Given the description of an element on the screen output the (x, y) to click on. 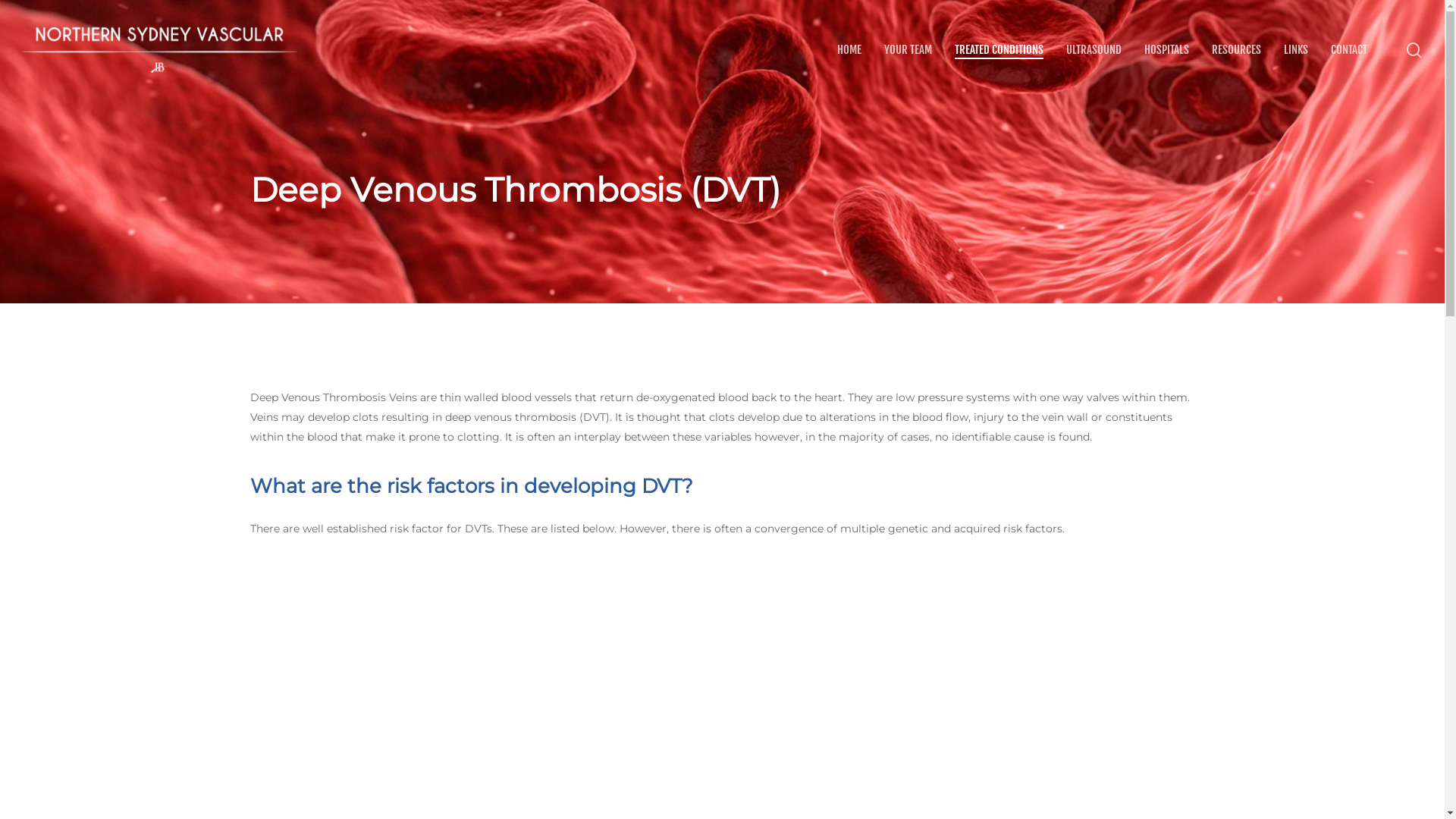
LINKS Element type: text (1295, 49)
CONTACT Element type: text (1348, 49)
search Element type: text (1414, 50)
ULTRASOUND Element type: text (1093, 49)
Email us Element type: text (106, 740)
TREATED CONDITIONS Element type: text (998, 49)
RESOURCES Element type: text (1236, 49)
Email us Element type: text (106, 739)
Captured Pixels Element type: text (1336, 561)
YOUR TEAM Element type: text (907, 49)
HOME Element type: text (849, 49)
HOSPITALS Element type: text (1166, 49)
